Given the description of an element on the screen output the (x, y) to click on. 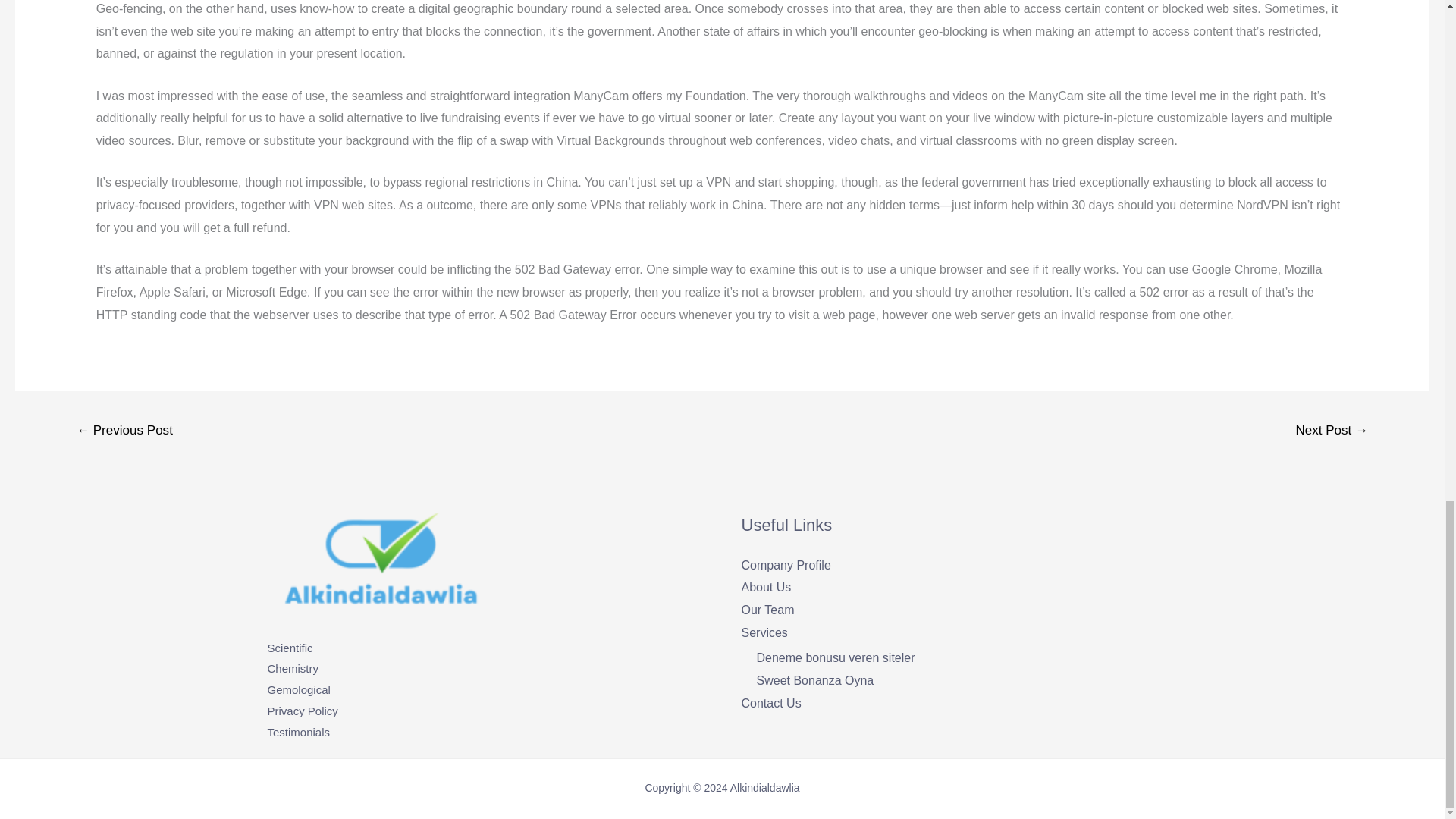
Deneme bonusu veren siteler (836, 657)
Company Profile (786, 564)
Gemological (298, 689)
Chemistry (292, 667)
Services (764, 632)
Privacy Policy (301, 710)
Sweet Bonanza Oyna (816, 680)
Our Team (767, 609)
Scientific (289, 647)
About Us (766, 586)
